Given the description of an element on the screen output the (x, y) to click on. 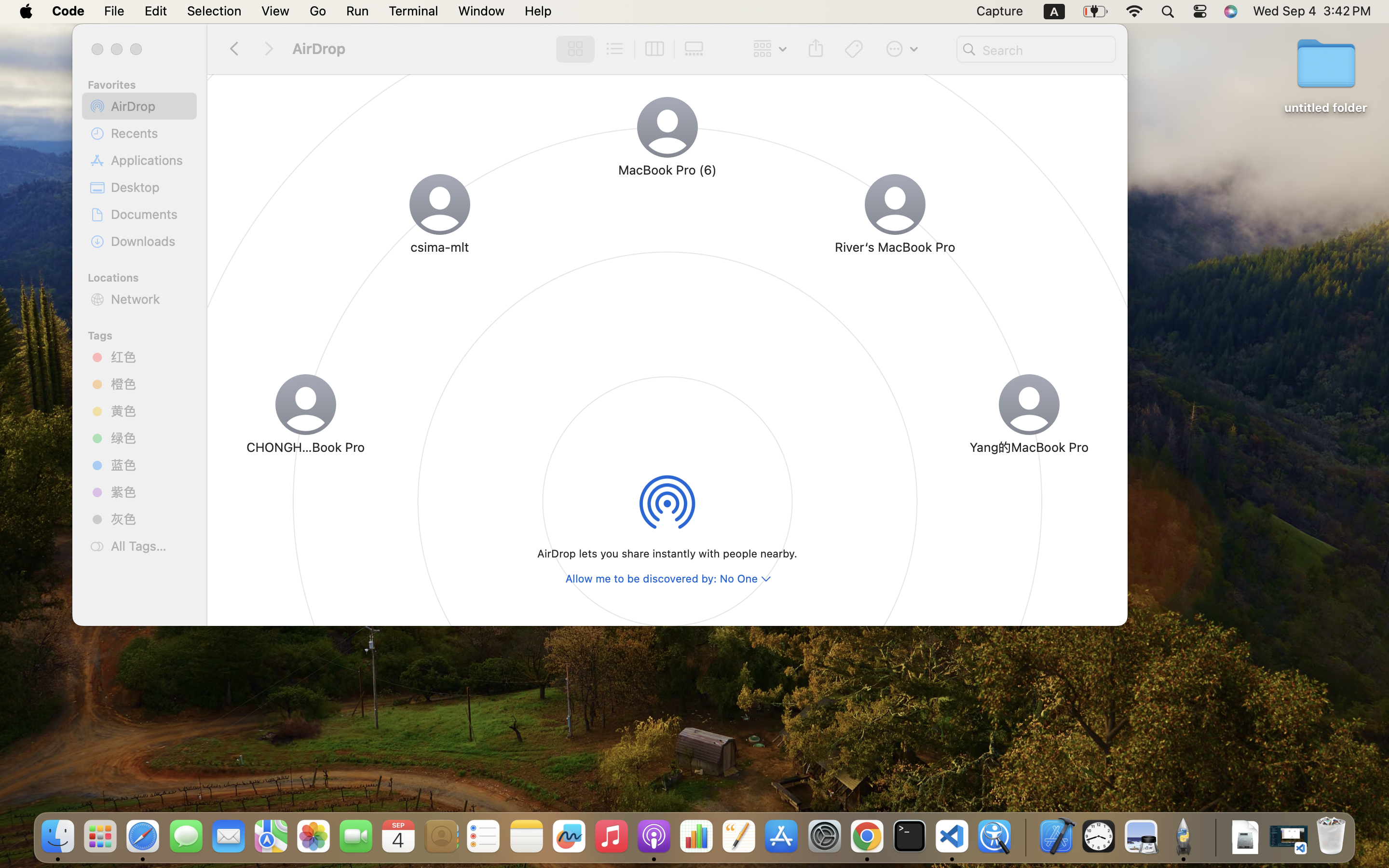
Documents Element type: AXStaticText (149, 213)
Locations Element type: AXStaticText (144, 276)
绿色 Element type: AXStaticText (149, 437)
黄色 Element type: AXStaticText (149, 410)
红色 Element type: AXStaticText (149, 356)
